Given the description of an element on the screen output the (x, y) to click on. 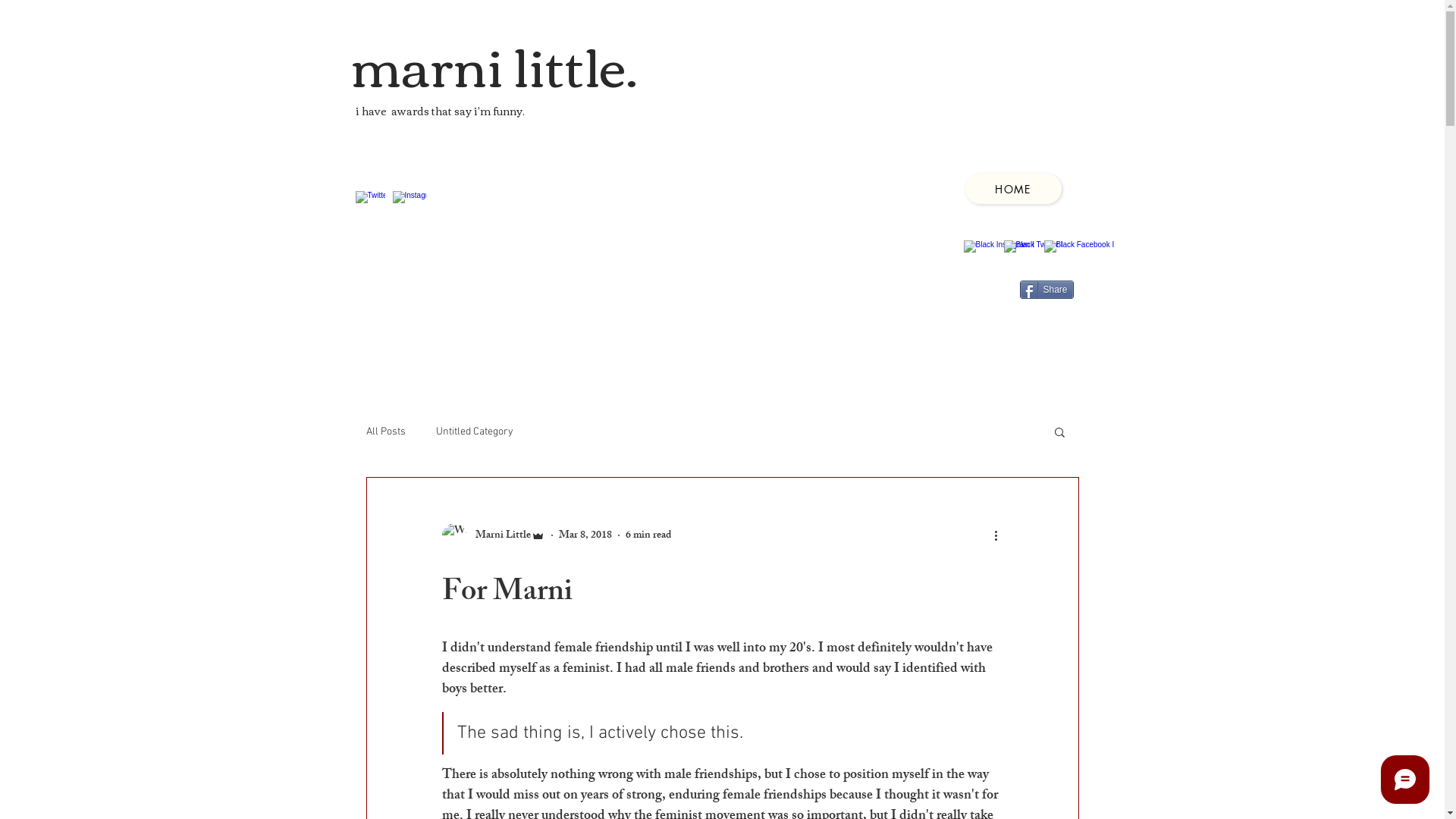
All Posts Element type: text (384, 430)
Share Element type: text (1046, 289)
HOME Element type: text (1012, 188)
Untitled Category Element type: text (473, 430)
